Given the description of an element on the screen output the (x, y) to click on. 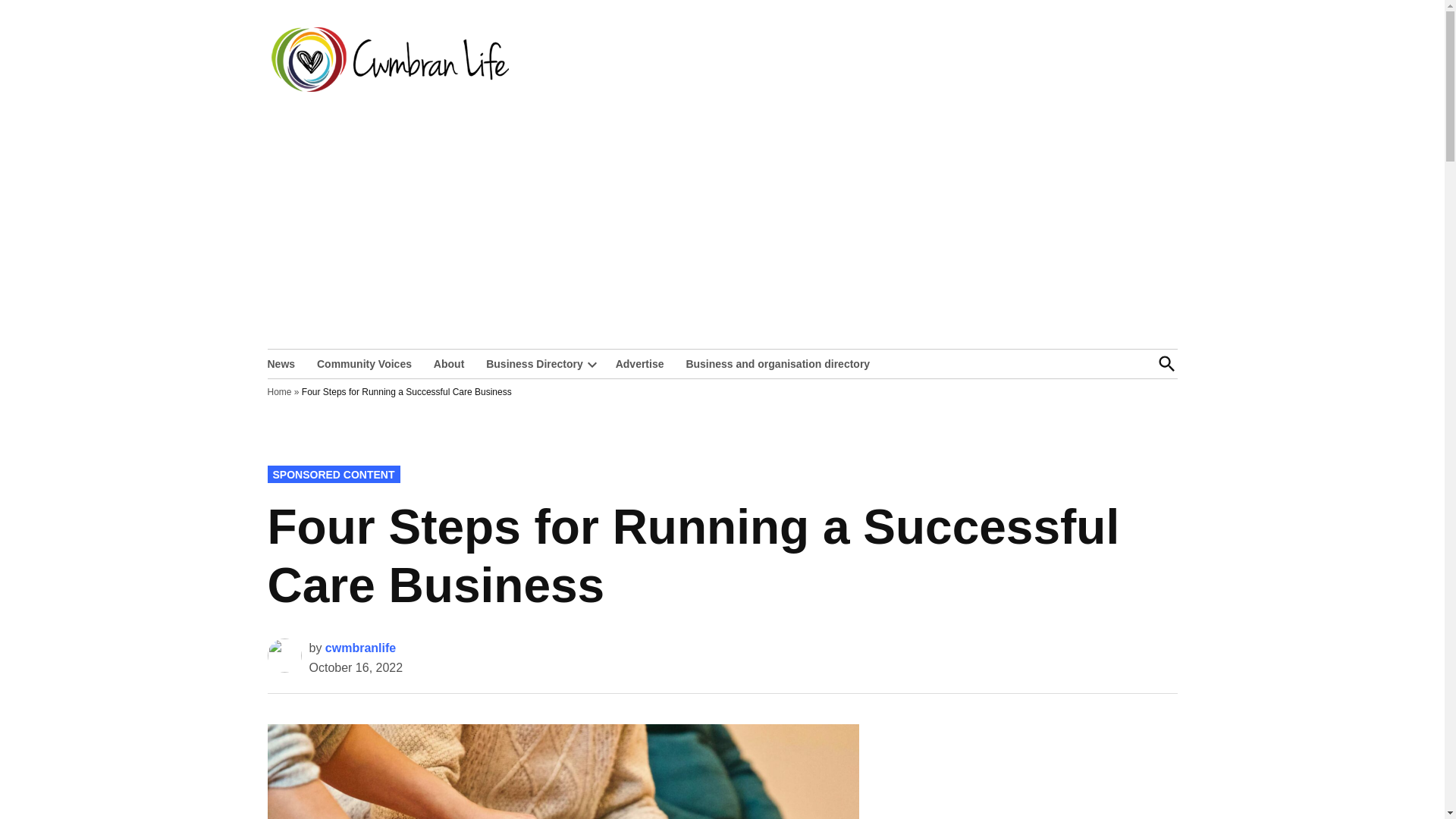
Advertise (639, 362)
SPONSORED CONTENT (332, 474)
Cwmbranlife (573, 70)
Open dropdown menu (592, 364)
Business and organisation directory (777, 362)
Home (278, 391)
cwmbranlife (360, 647)
Business and organisation directory (777, 362)
News (284, 362)
Community Voices (363, 362)
Business Directory (531, 362)
About (448, 362)
